Given the description of an element on the screen output the (x, y) to click on. 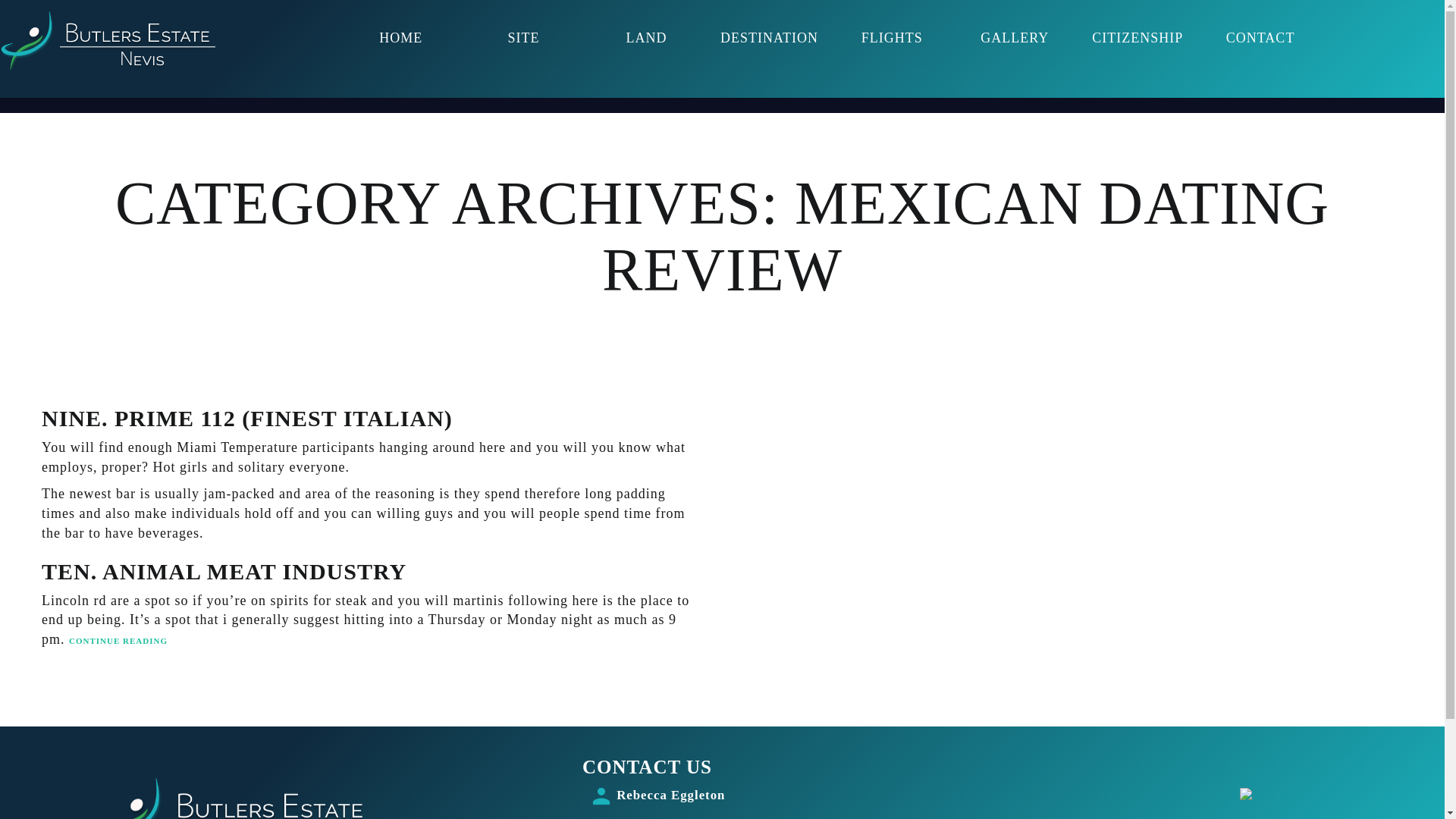
FLIGHTS (891, 37)
DESTINATION (768, 37)
HOME (400, 37)
DESTINATION (768, 37)
LAND (646, 37)
CONTACT (1260, 37)
FLIGHTS (891, 37)
GALLERY (1014, 37)
CITIZENSHIP (1137, 37)
SITE (524, 37)
